Given the description of an element on the screen output the (x, y) to click on. 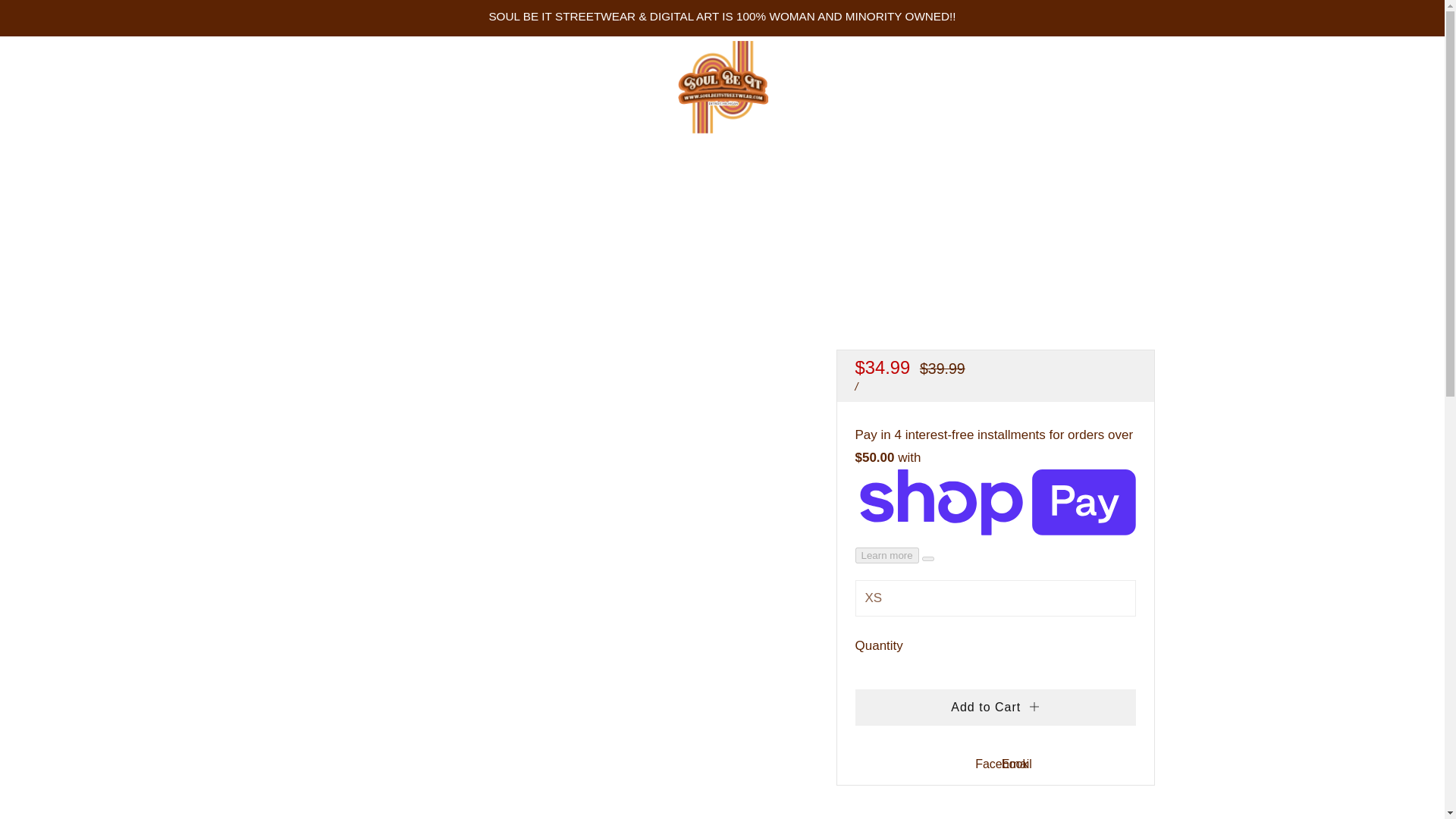
Email (1016, 764)
Add to Cart (995, 707)
Facebook (1001, 764)
